Given the description of an element on the screen output the (x, y) to click on. 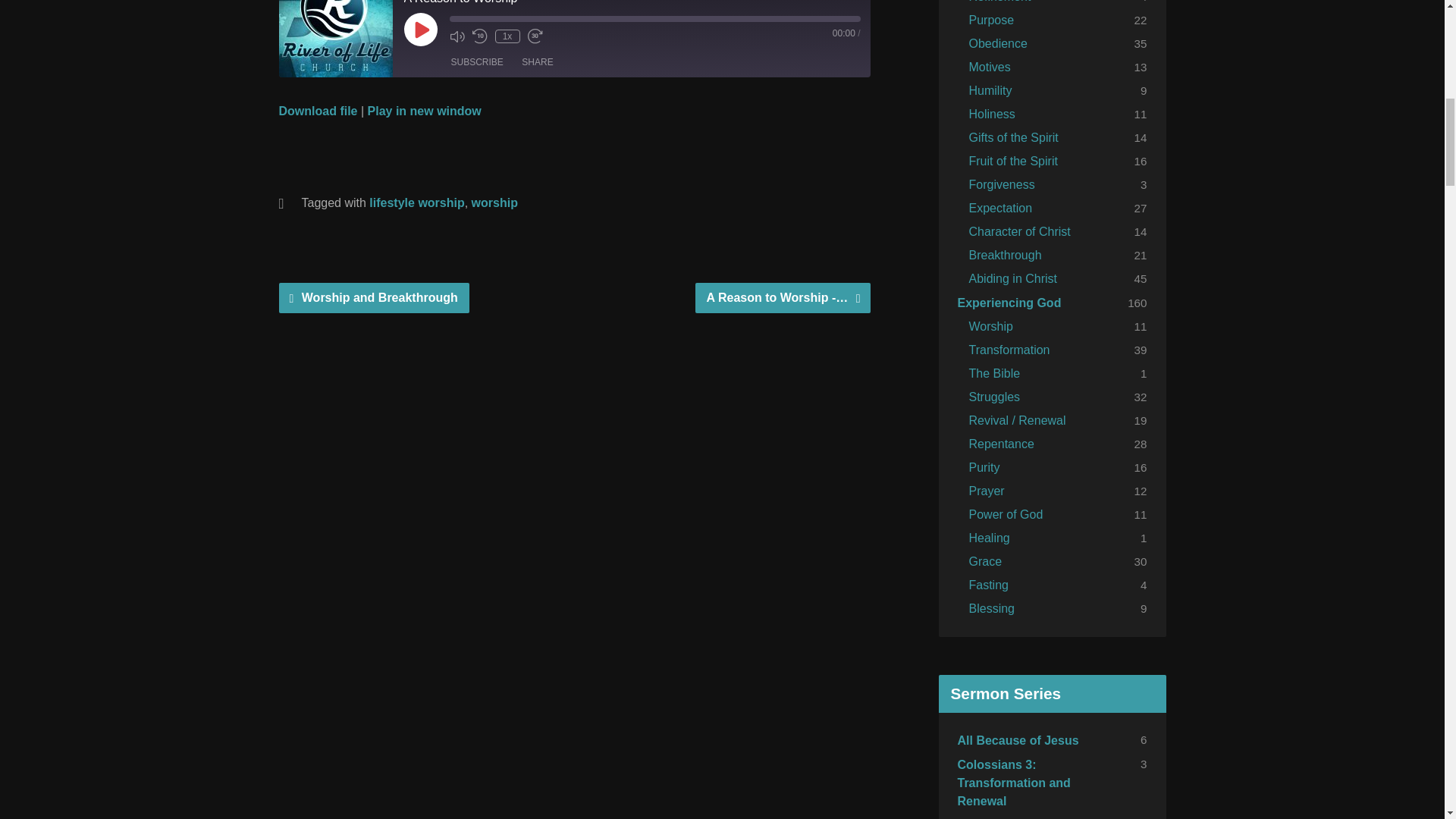
Play (419, 29)
Rewind 10 seconds (478, 36)
River of Life Church: Amherst, NH (336, 38)
Seek (654, 18)
